Given the description of an element on the screen output the (x, y) to click on. 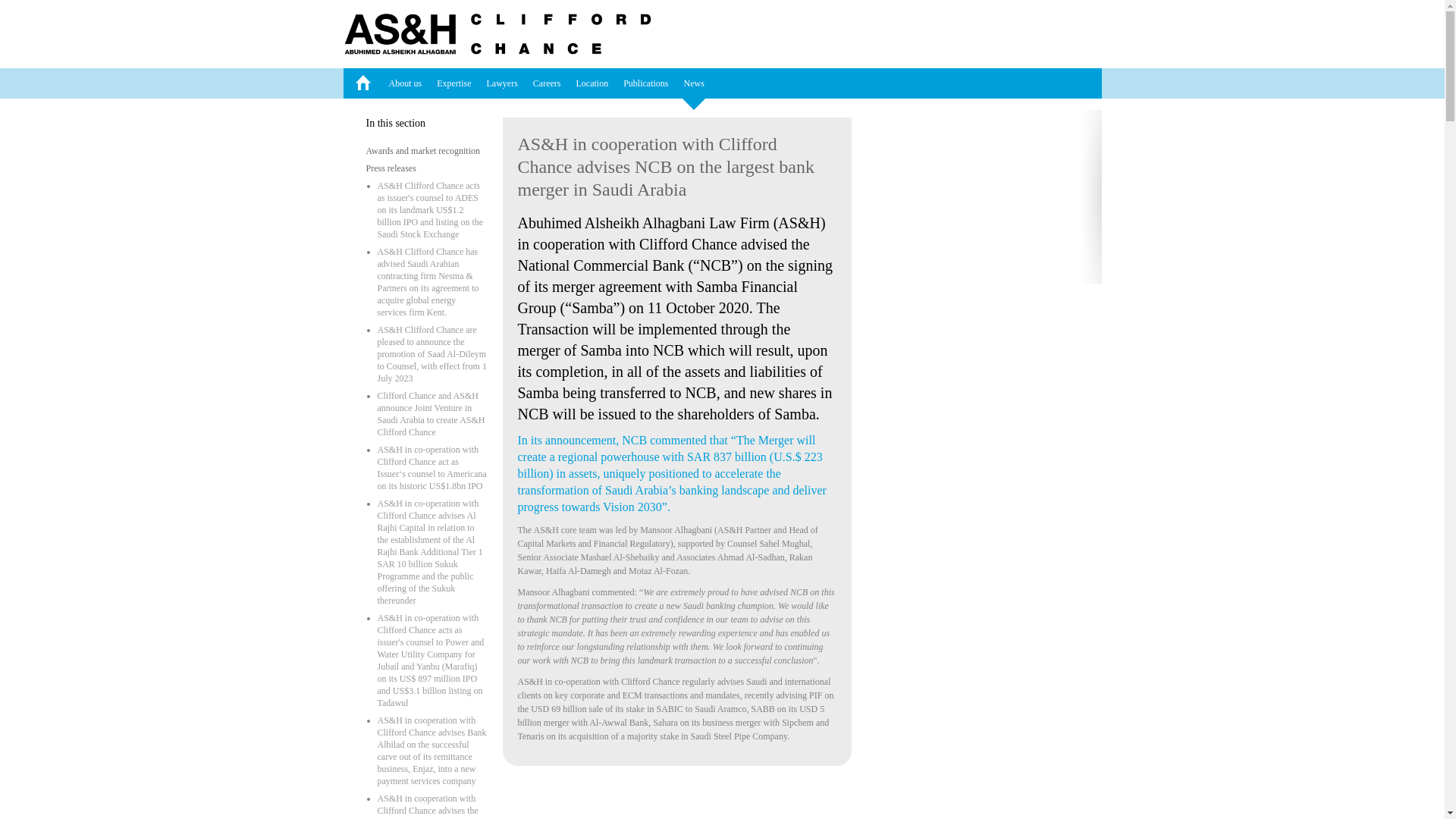
Expertise (454, 82)
Lawyers (502, 82)
About us (404, 82)
Home (361, 82)
